Given the description of an element on the screen output the (x, y) to click on. 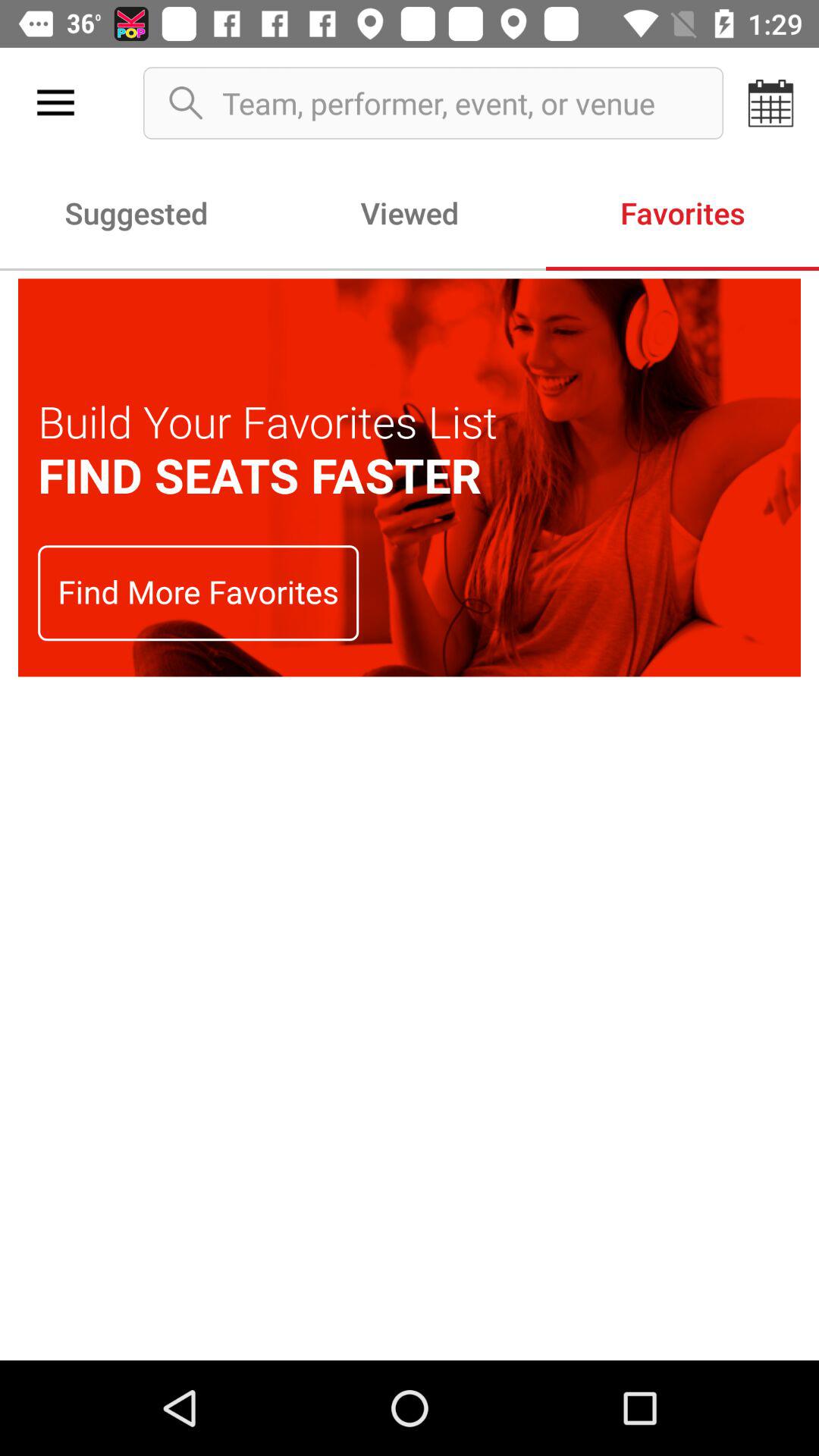
tap item next to the team performer event (771, 103)
